Given the description of an element on the screen output the (x, y) to click on. 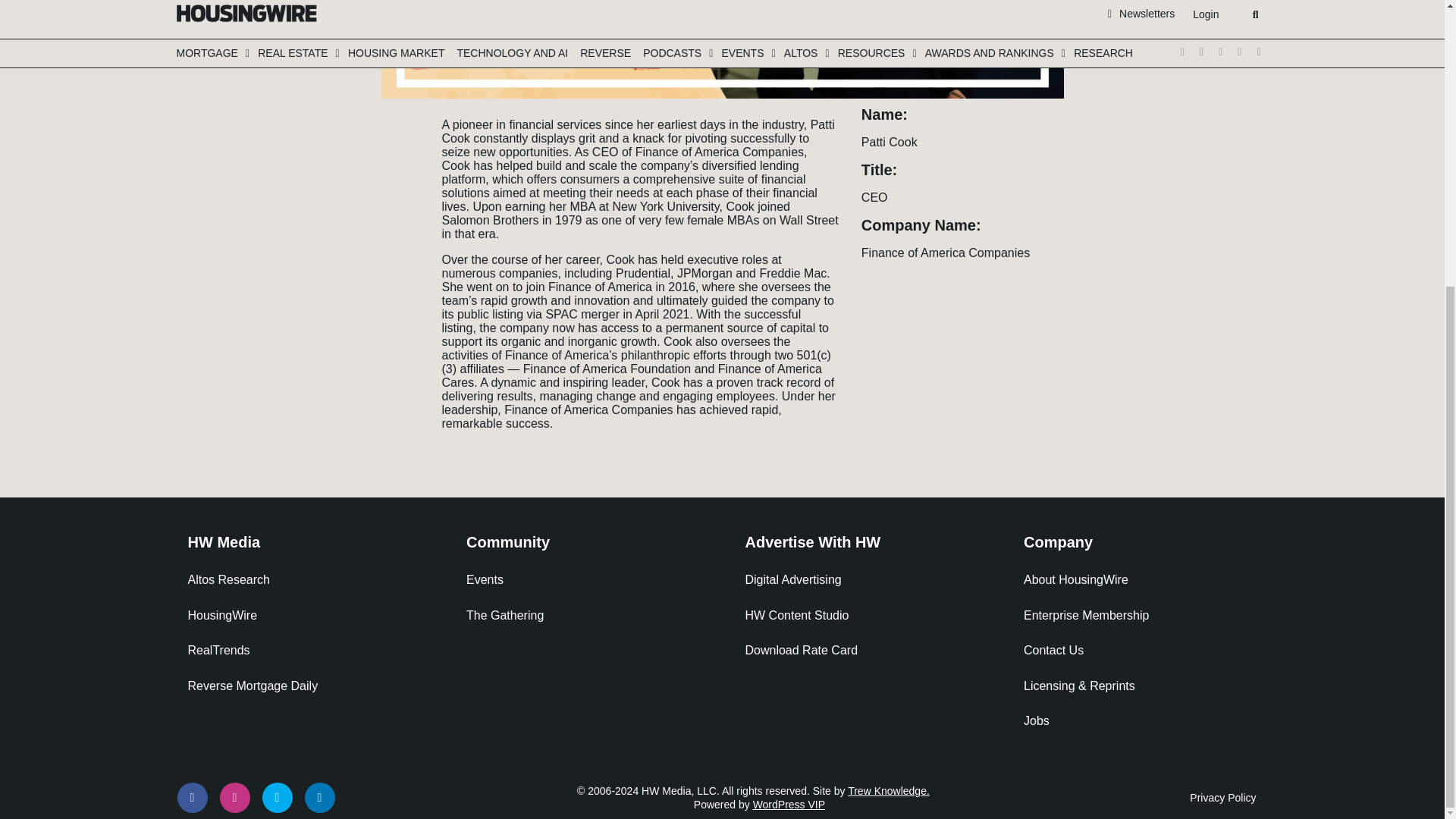
Click to share on Facebook (398, 142)
Click to share on Twitter (398, 119)
Click to email a link to a friend (398, 187)
Click to copy link (398, 210)
Click to share on LinkedIn (398, 165)
